Given the description of an element on the screen output the (x, y) to click on. 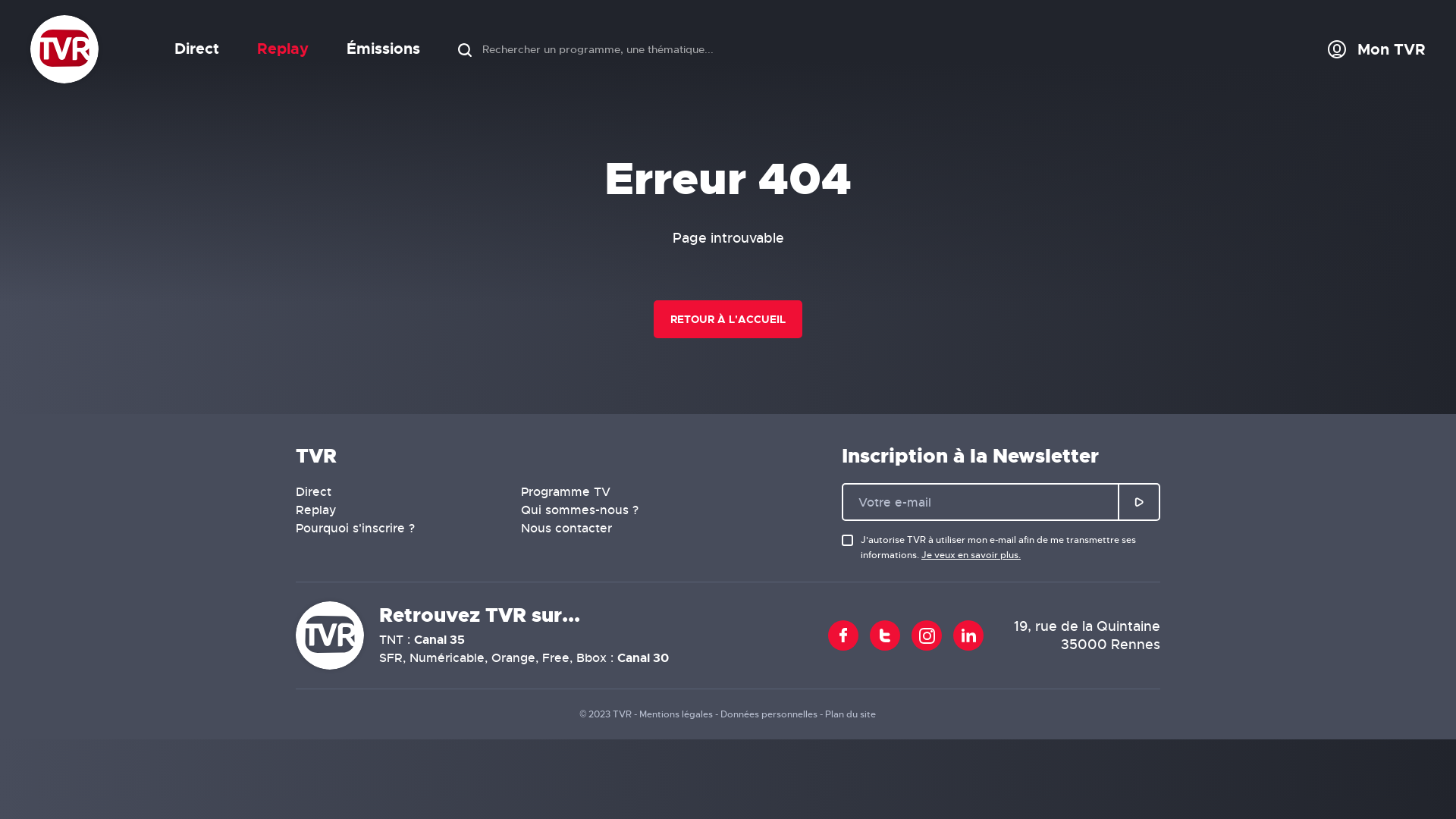
Pourquoi s'inscrire ? Element type: text (354, 528)
Direct Element type: text (313, 491)
Nous contacter Element type: text (565, 528)
Mon TVR Element type: text (1376, 49)
Plan du site Element type: text (850, 714)
Je veux en savoir plus. Element type: text (970, 555)
Replay Element type: text (315, 509)
Direct Element type: text (196, 48)
Replay Element type: text (282, 48)
Qui sommes-nous ? Element type: text (579, 509)
Programme TV Element type: text (565, 491)
